Given the description of an element on the screen output the (x, y) to click on. 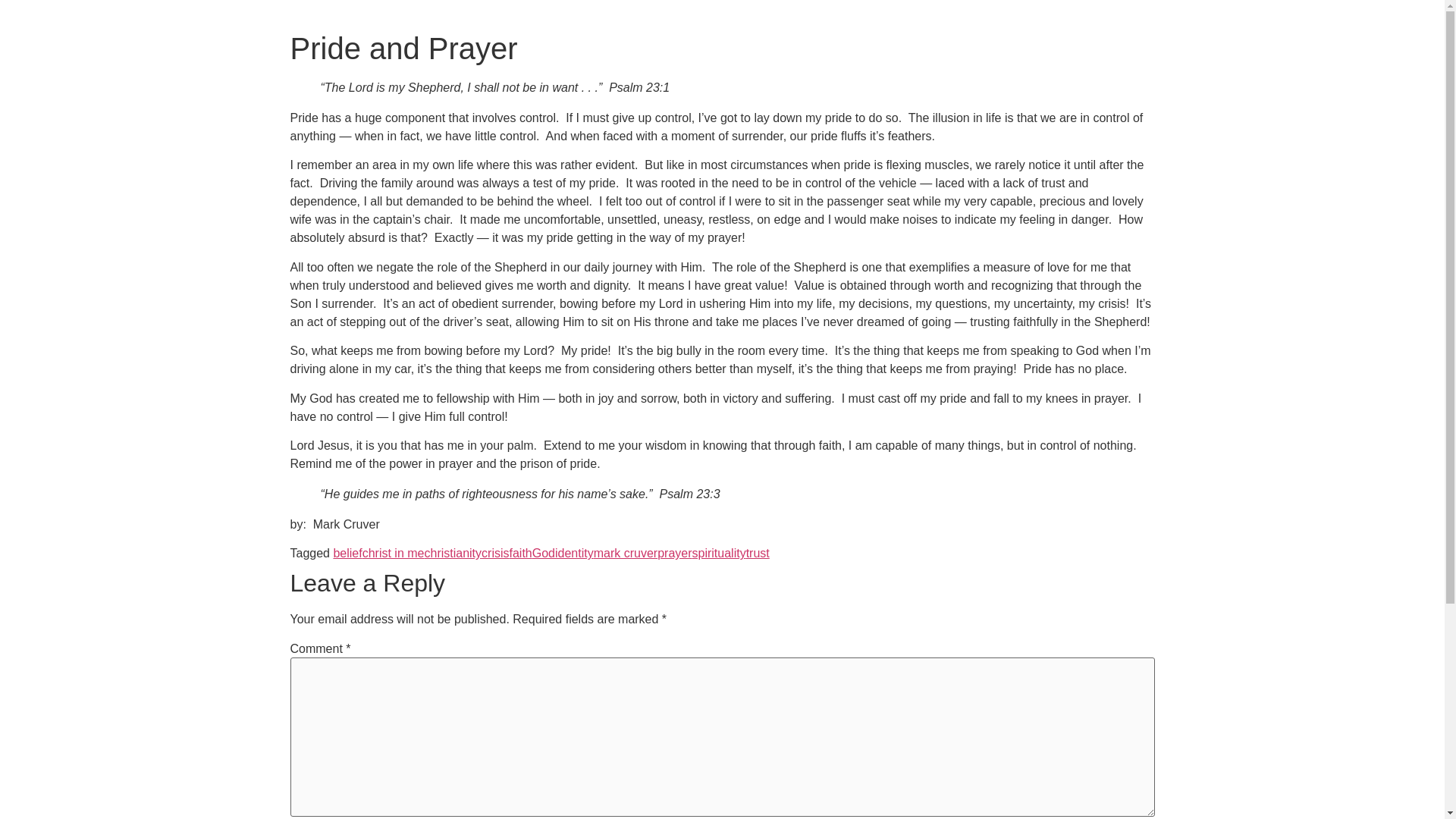
mark cruver (626, 553)
christ in me (393, 553)
trust (757, 553)
christianity (452, 553)
God (543, 553)
prayer (674, 553)
spirituality (719, 553)
crisis (494, 553)
belief (347, 553)
faith (520, 553)
